Given the description of an element on the screen output the (x, y) to click on. 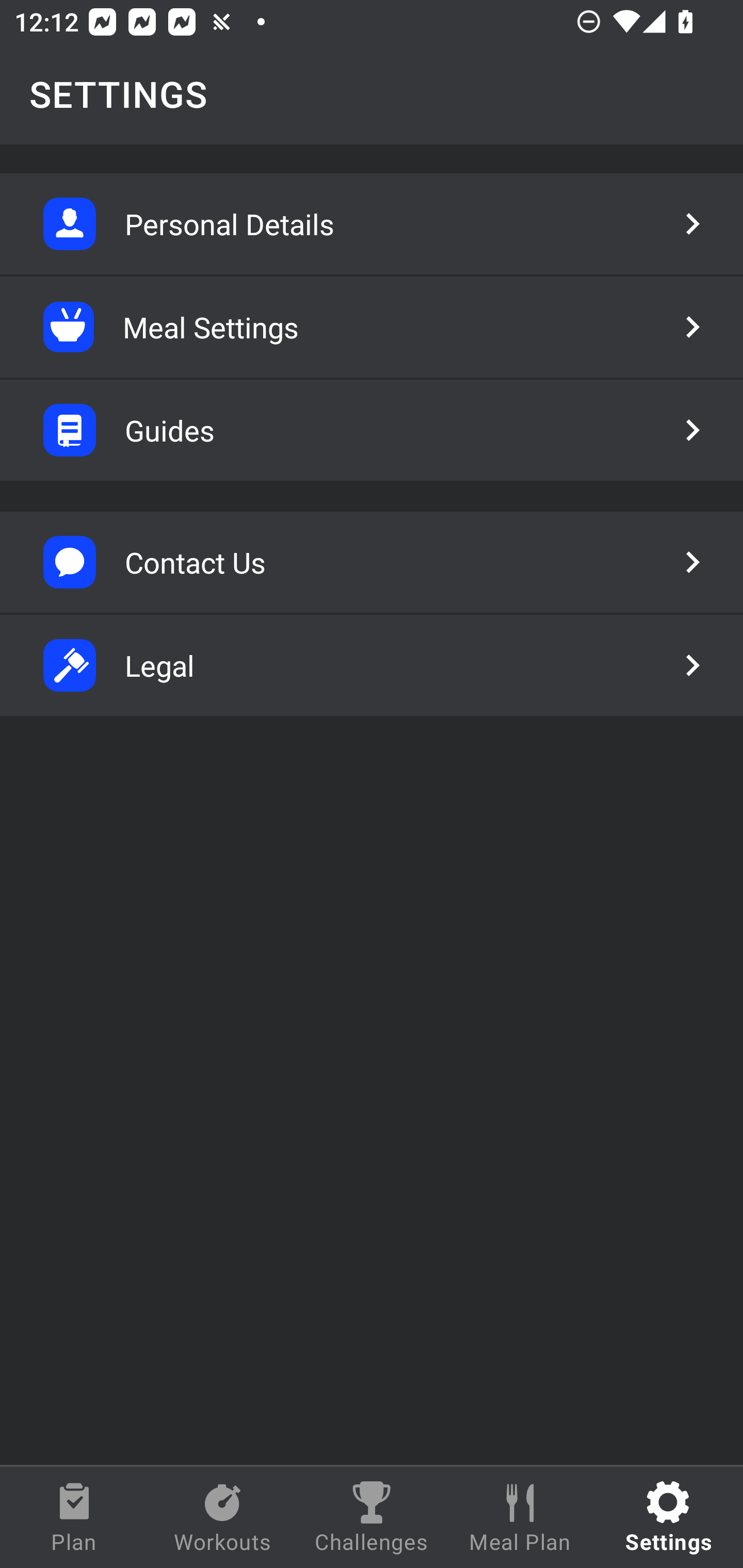
Personal Details (371, 224)
Meal Settings (371, 326)
Guides (371, 430)
Contact Us (371, 562)
Legal (371, 665)
 Plan  (74, 1517)
 Workouts  (222, 1517)
 Challenges  (371, 1517)
 Meal Plan  (519, 1517)
